Given the description of an element on the screen output the (x, y) to click on. 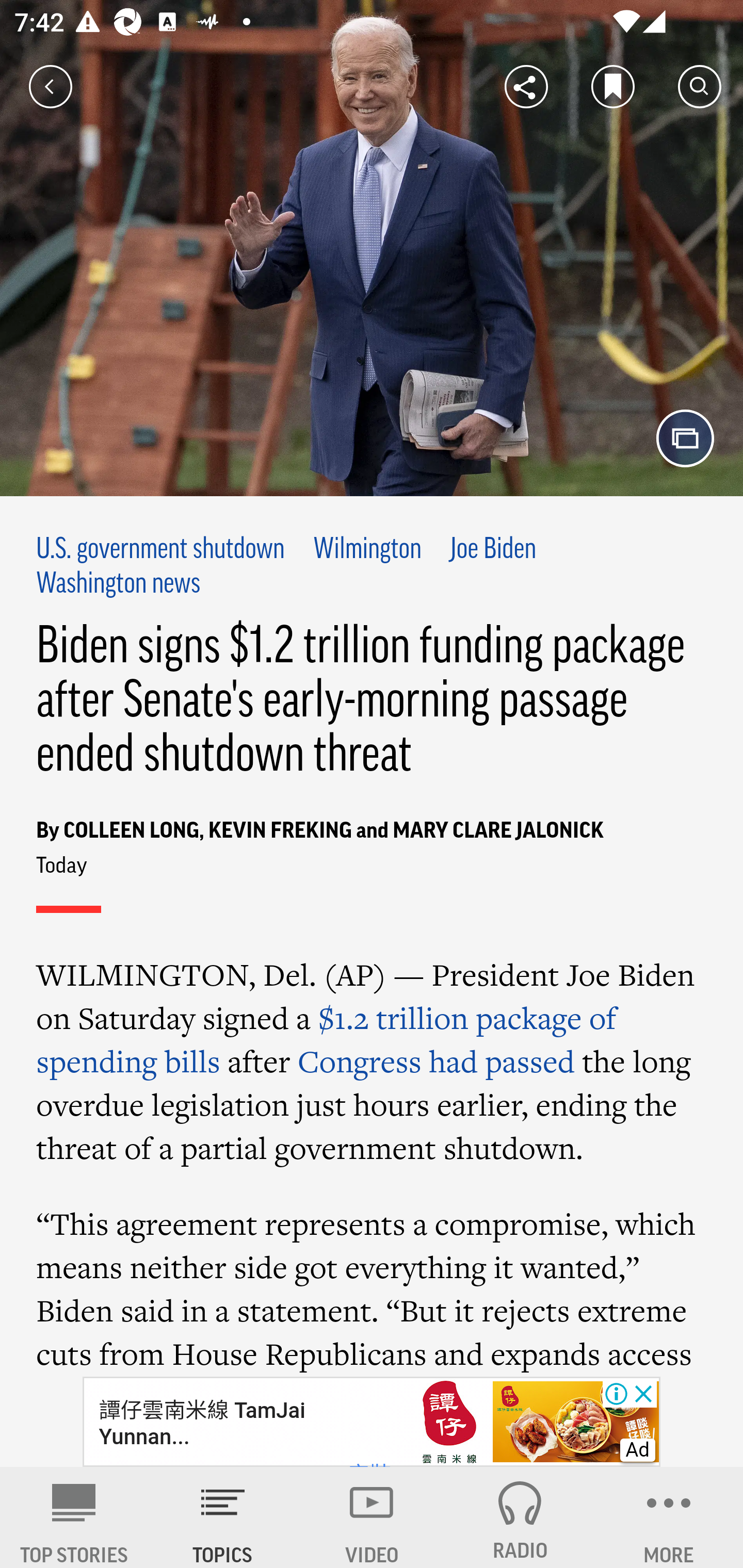
U.S. government shutdown (160, 549)
Wilmington (367, 549)
Joe Biden (493, 549)
Washington news (119, 584)
$1.2 trillion package of spending bills (326, 1038)
Congress had passed (435, 1060)
譚仔雲南米線 TamJai Yunnan... (201, 1422)
AP News TOP STORIES (74, 1517)
TOPICS (222, 1517)
VIDEO (371, 1517)
RADIO (519, 1517)
MORE (668, 1517)
